Given the description of an element on the screen output the (x, y) to click on. 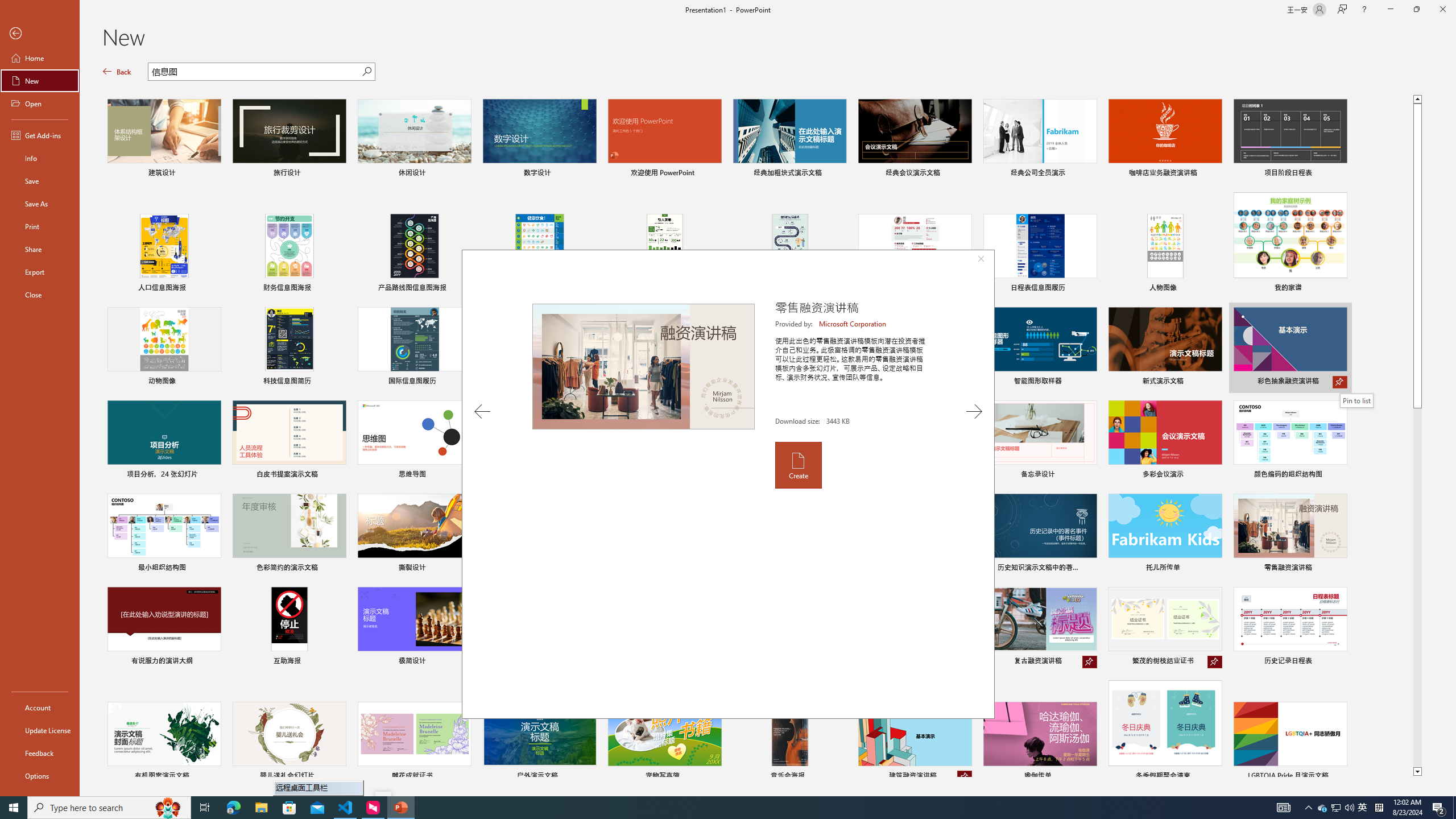
Class: NetUIScrollBar (1450, 428)
Info (40, 157)
